Given the description of an element on the screen output the (x, y) to click on. 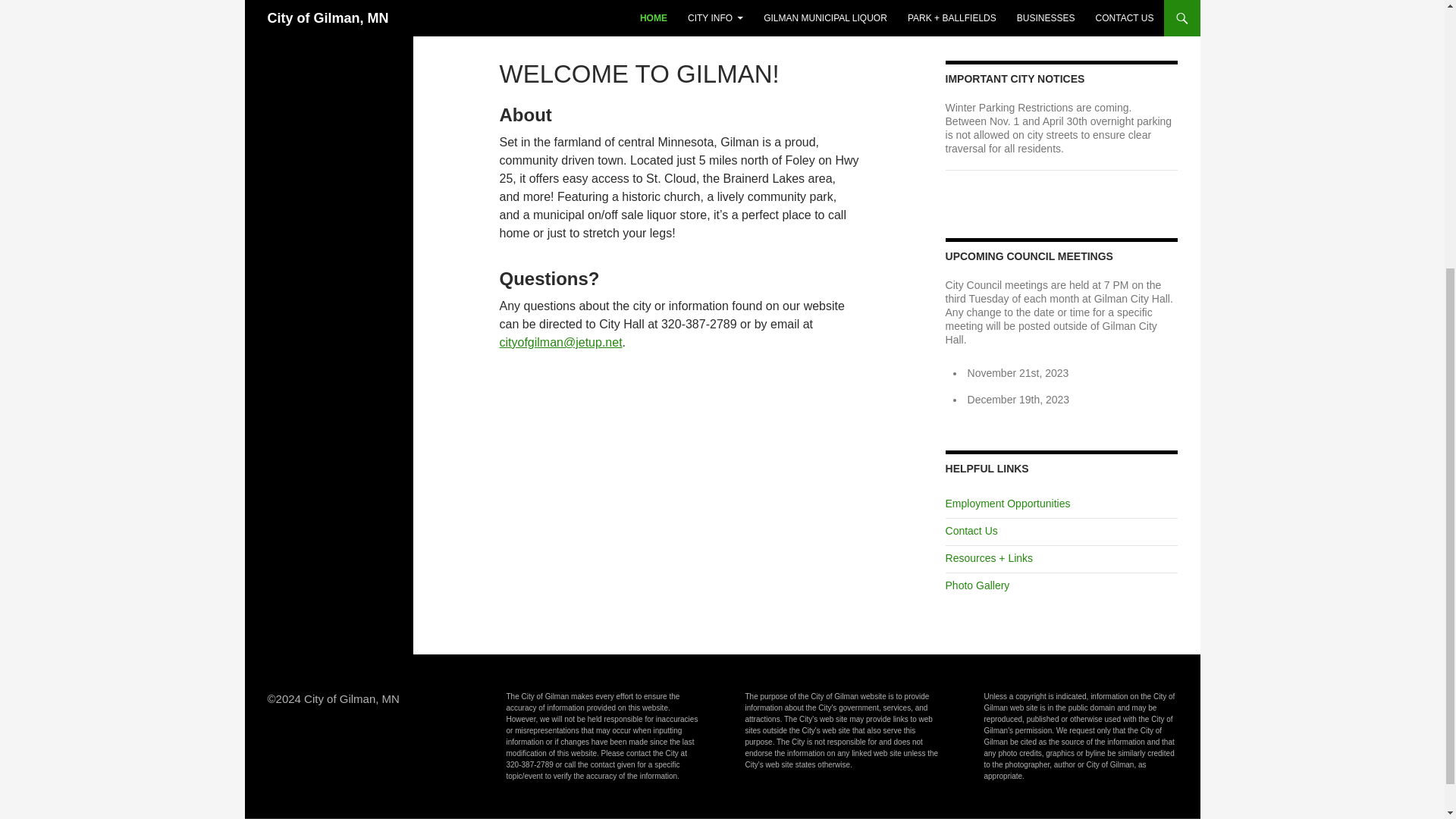
Employment Opportunities (1007, 503)
Photo Gallery (977, 585)
Contact Us (970, 530)
